Given the description of an element on the screen output the (x, y) to click on. 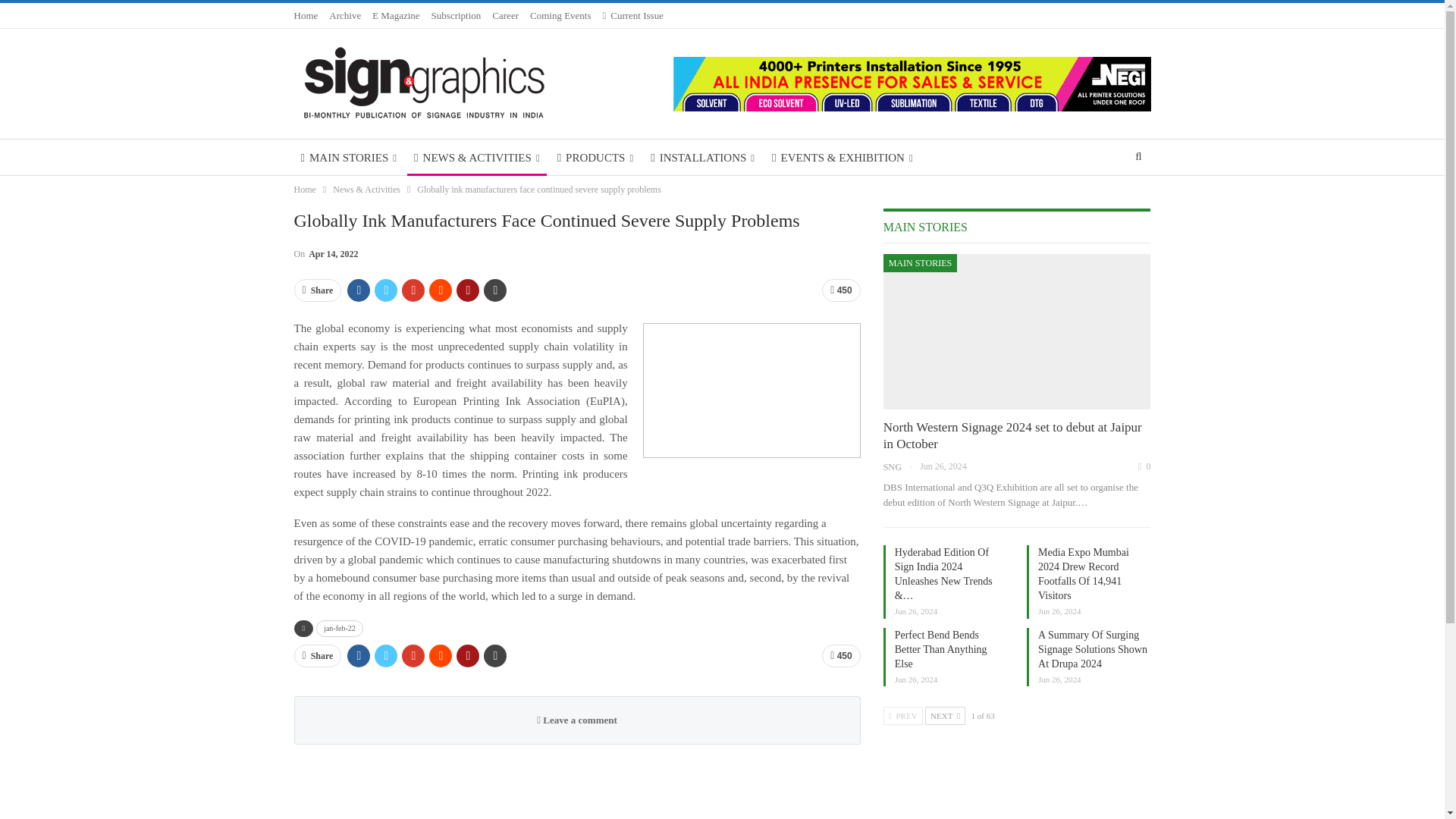
Archive (345, 15)
Home (306, 15)
Current Issue (632, 15)
MAIN STORIES (349, 157)
Coming Events (560, 15)
Career (505, 15)
Subscription (455, 15)
E Magazine (395, 15)
